Given the description of an element on the screen output the (x, y) to click on. 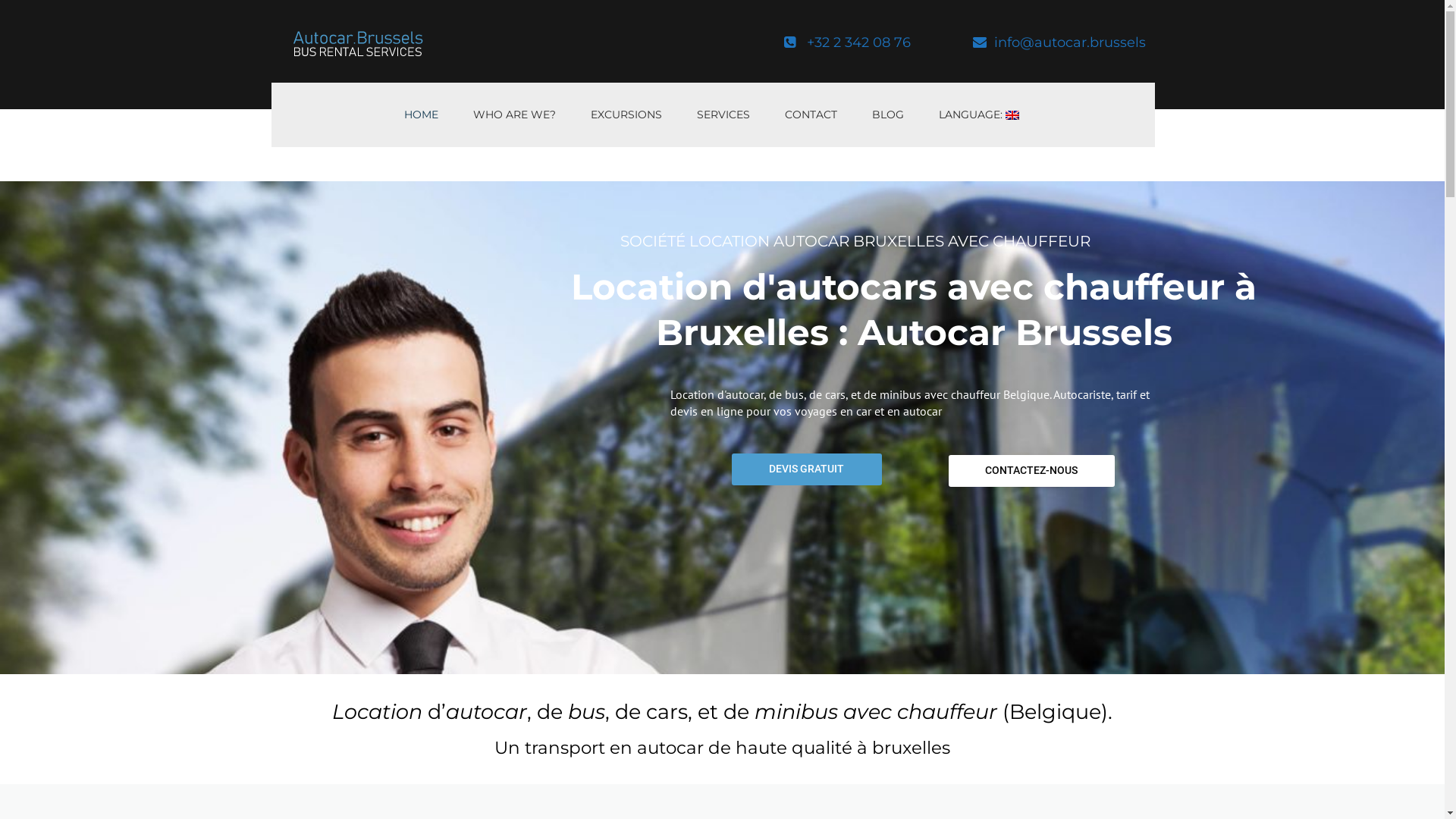
HOME Element type: text (421, 114)
WHO ARE WE? Element type: text (513, 114)
LANGUAGE:  Element type: text (978, 114)
EXCURSIONS Element type: text (625, 114)
BLOG Element type: text (887, 114)
CONTACT Element type: text (810, 114)
SERVICES Element type: text (722, 114)
